Given the description of an element on the screen output the (x, y) to click on. 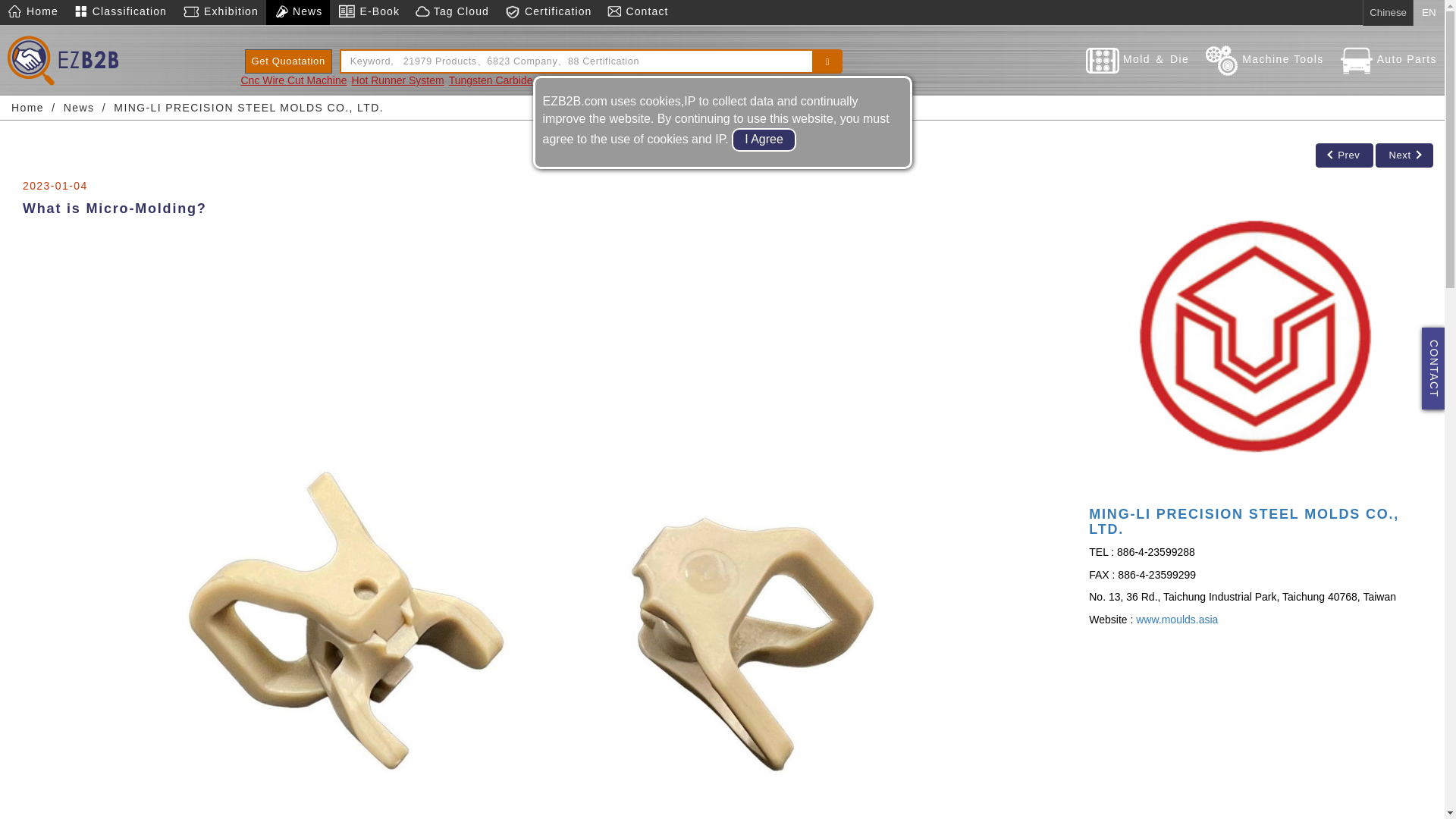
Tungsten Carbide (490, 80)
Cnc Wire Cut Machine (294, 80)
Contact (636, 12)
Machine Tools (1262, 59)
I Agree (764, 139)
MING-LI PRECISION STEEL MOLDS CO., LTD. (248, 107)
Get Quoatation (287, 61)
Chinese (1387, 13)
Classification (119, 12)
Tag Cloud (451, 12)
E-Book (368, 12)
Home (32, 12)
Prev (1344, 155)
Home (27, 107)
Auto Parts (1388, 59)
